Given the description of an element on the screen output the (x, y) to click on. 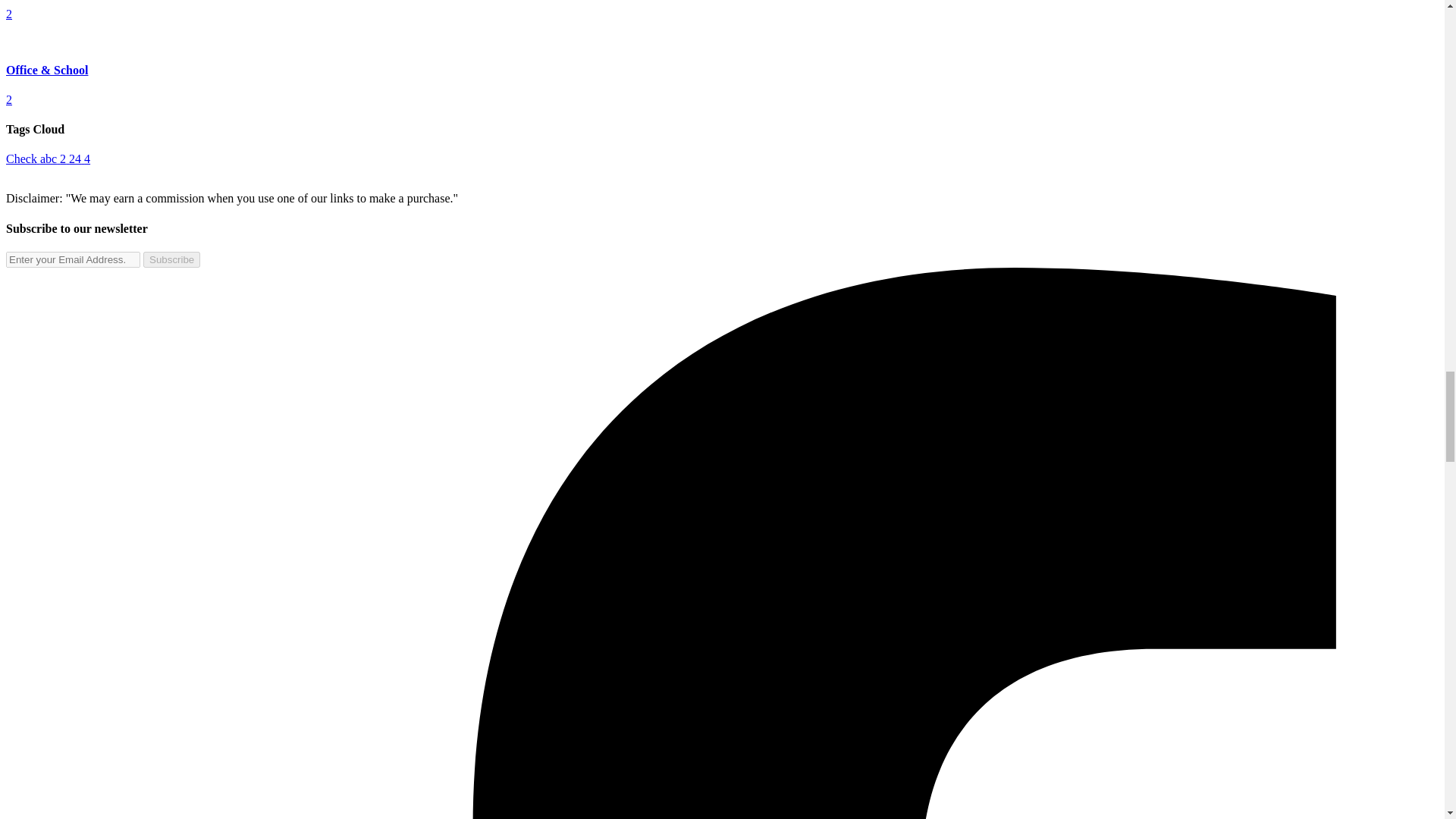
4 (87, 158)
2 (63, 158)
Subscribe (171, 259)
abc (49, 158)
24 (76, 158)
Check (22, 158)
